Given the description of an element on the screen output the (x, y) to click on. 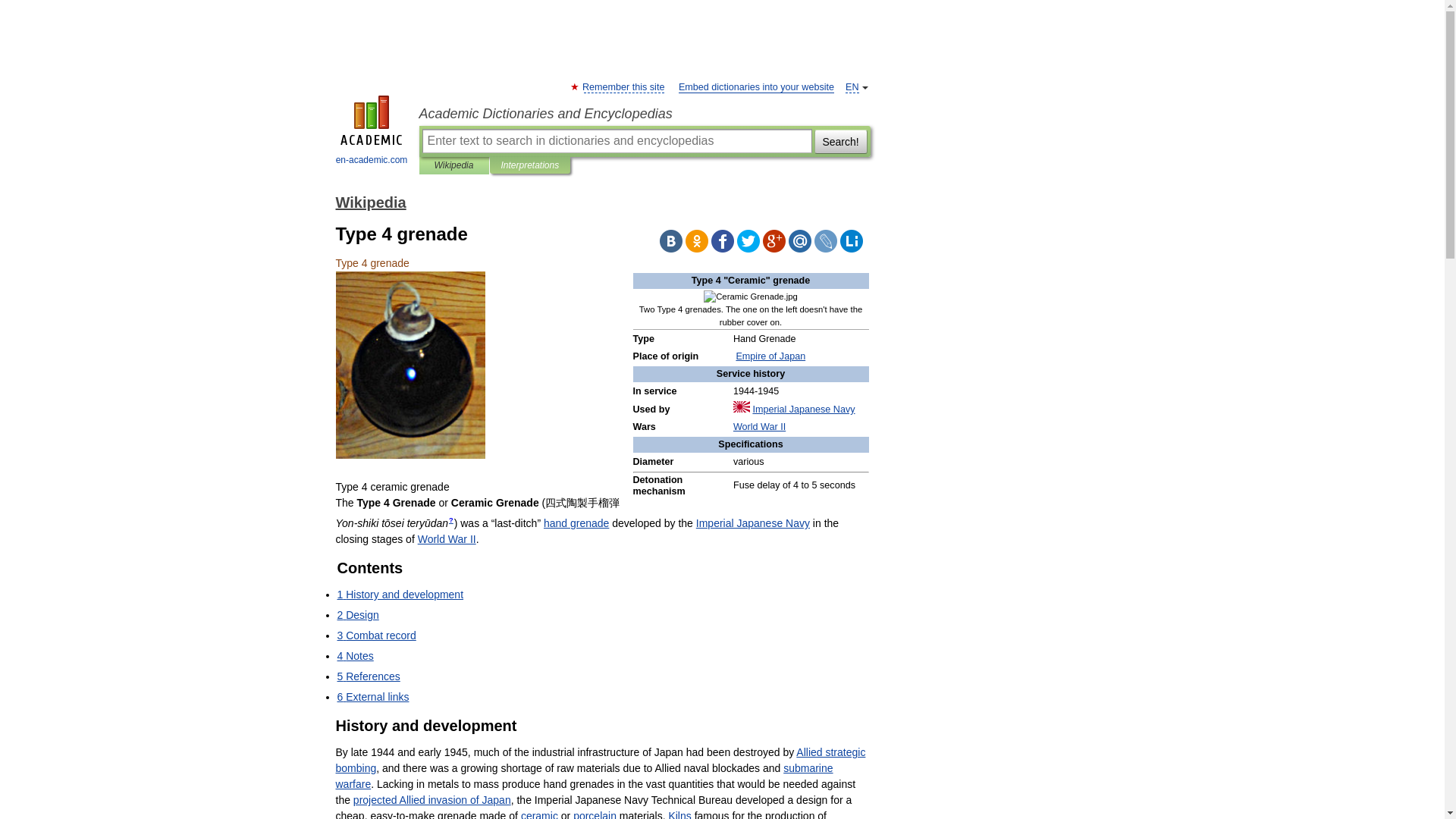
Interpretations (529, 165)
2 Design (357, 614)
Wikipedia (370, 202)
Embed dictionaries into your website (756, 87)
1 History and development (399, 594)
Remember this site (623, 87)
Search! (840, 140)
Empire of Japan (770, 356)
6 External links (372, 696)
World War II (446, 539)
